Given the description of an element on the screen output the (x, y) to click on. 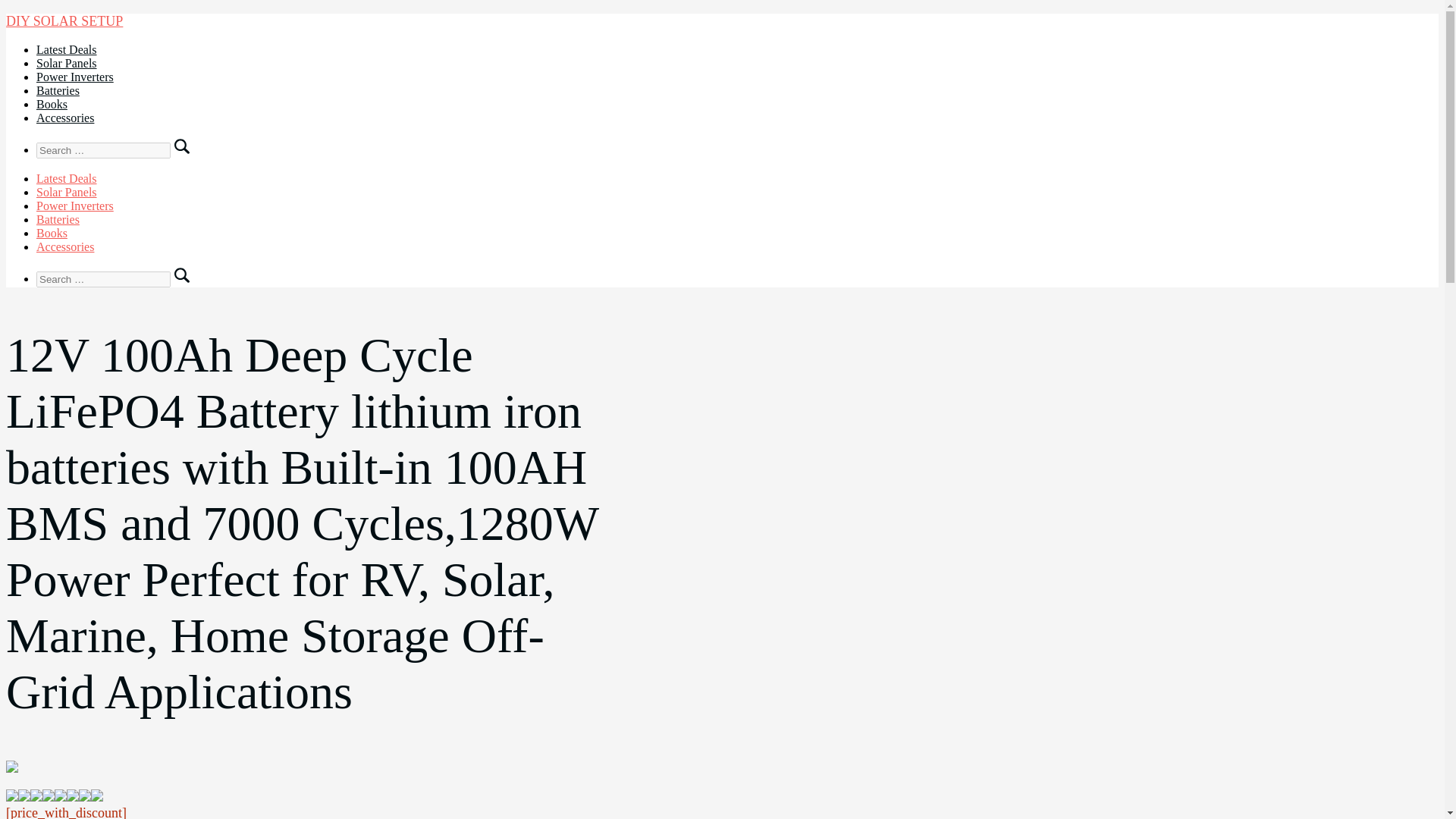
Accessories (65, 117)
Solar Panels (66, 62)
Solar Panels (66, 192)
DIY SOLAR SETUP (63, 20)
Books (51, 232)
Power Inverters (74, 205)
Latest Deals (66, 178)
Search for: (103, 150)
Search for: (103, 279)
Accessories (65, 246)
